Given the description of an element on the screen output the (x, y) to click on. 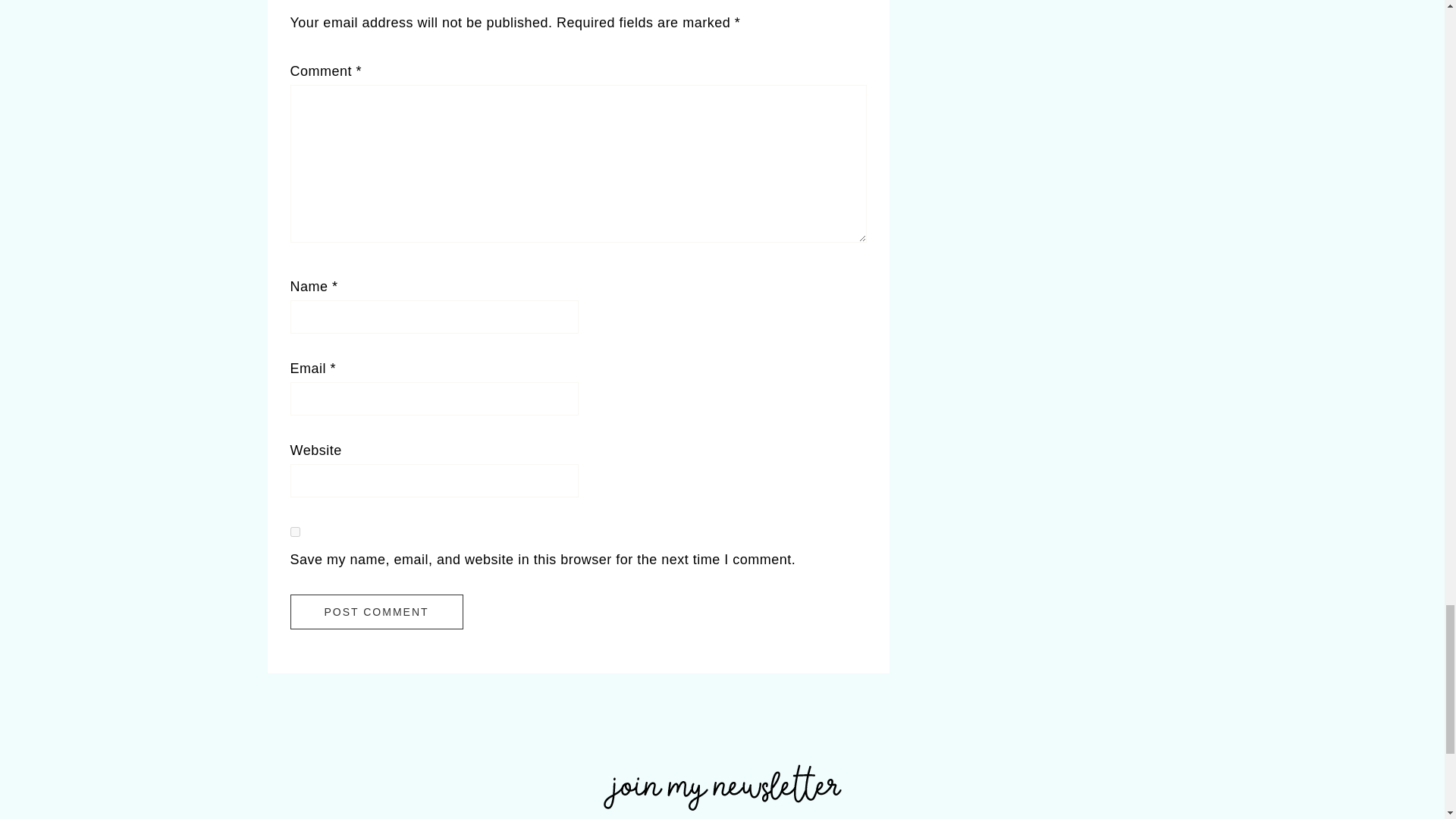
Post Comment (376, 611)
yes (294, 532)
